Given the description of an element on the screen output the (x, y) to click on. 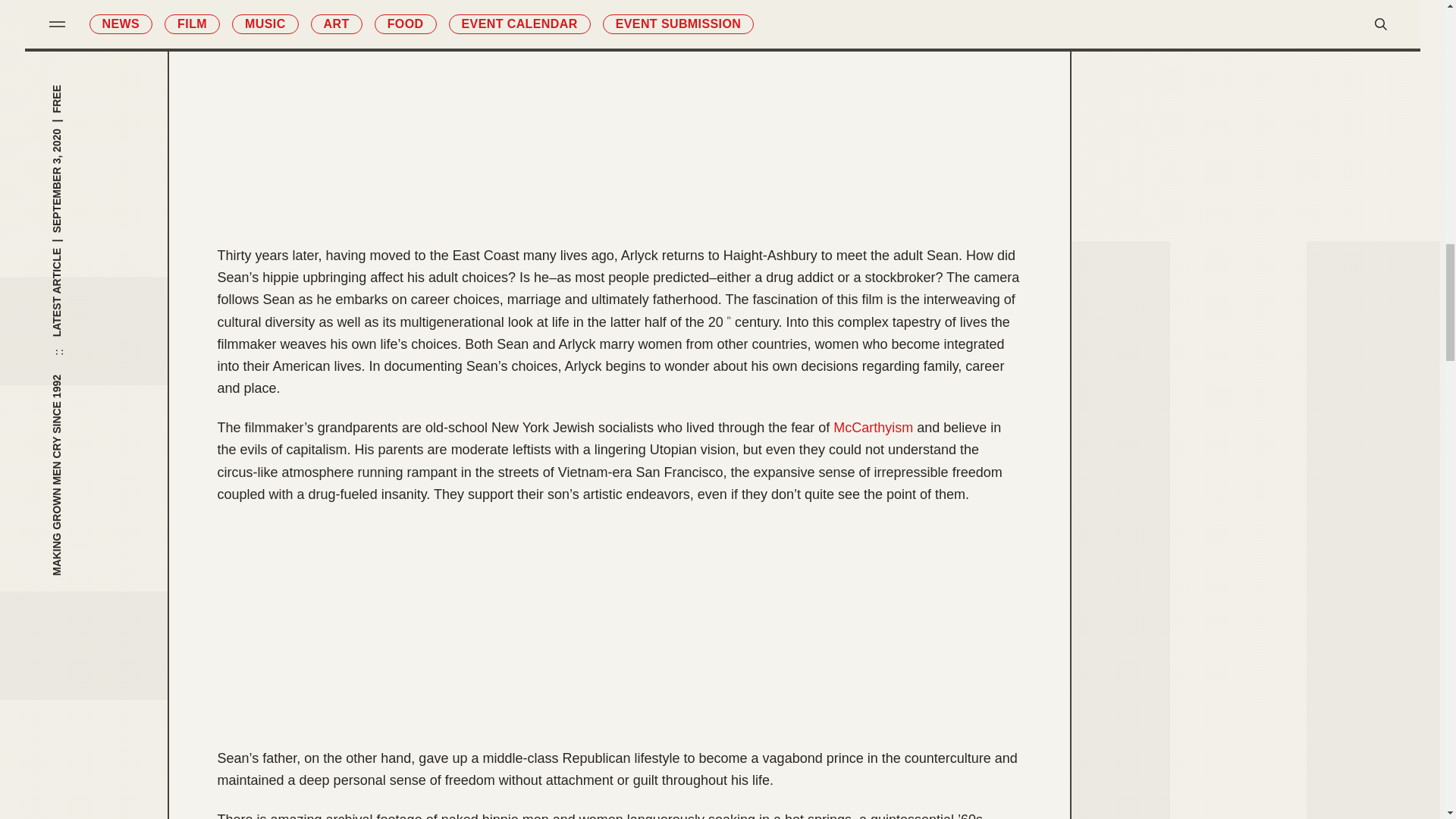
McCarthyism (872, 427)
